Given the description of an element on the screen output the (x, y) to click on. 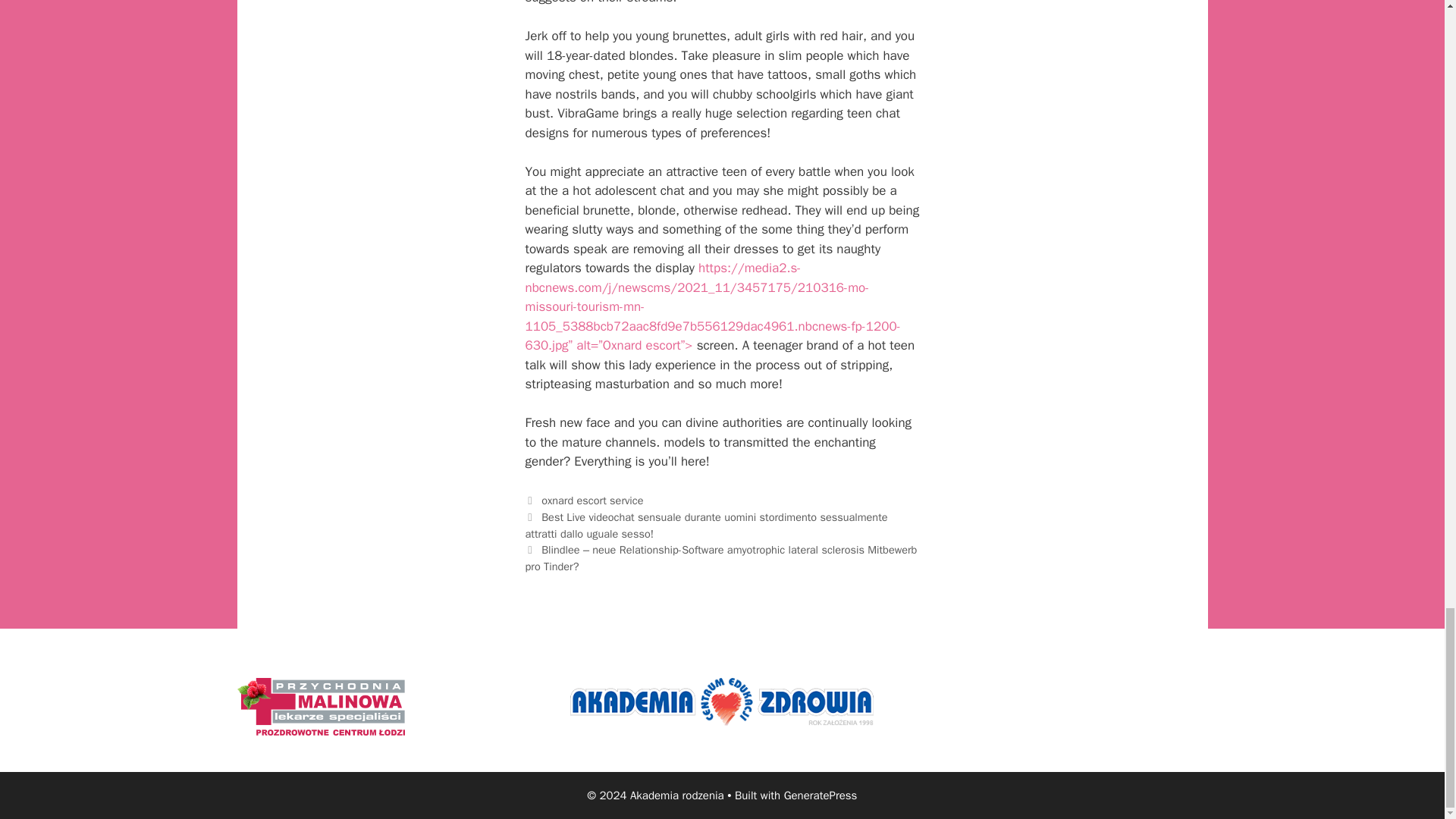
GeneratePress (820, 795)
oxnard escort service (592, 499)
